Given the description of an element on the screen output the (x, y) to click on. 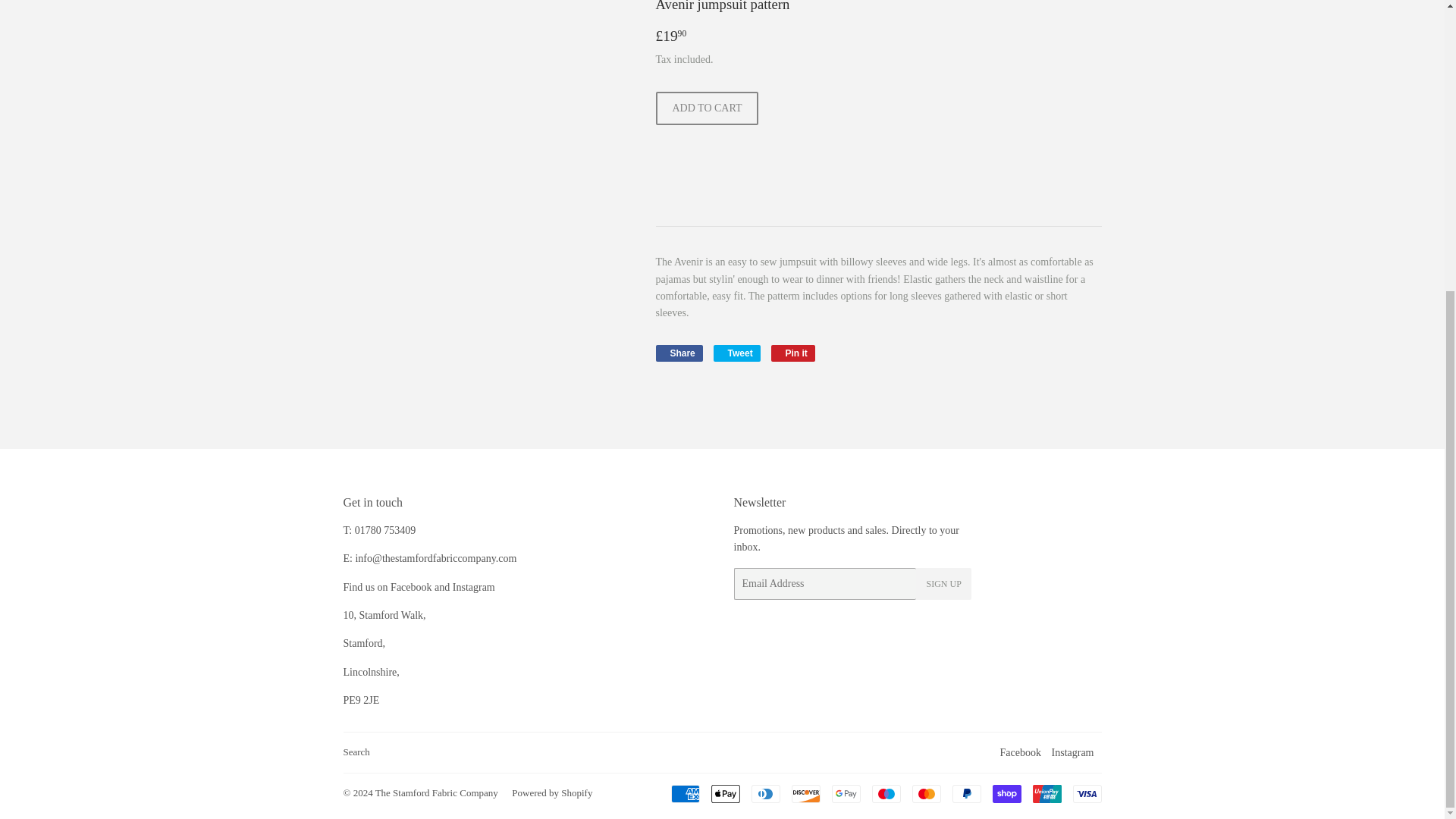
The Stamford Fabric Company (436, 792)
Powered by Shopify (552, 792)
The Stamford Fabric Company on Instagram (1072, 752)
Tweet on Twitter (736, 352)
ADD TO CART (706, 108)
Share on Facebook (678, 352)
Search (355, 751)
PayPal (966, 793)
Mastercard (925, 793)
Facebook (1020, 752)
